Given the description of an element on the screen output the (x, y) to click on. 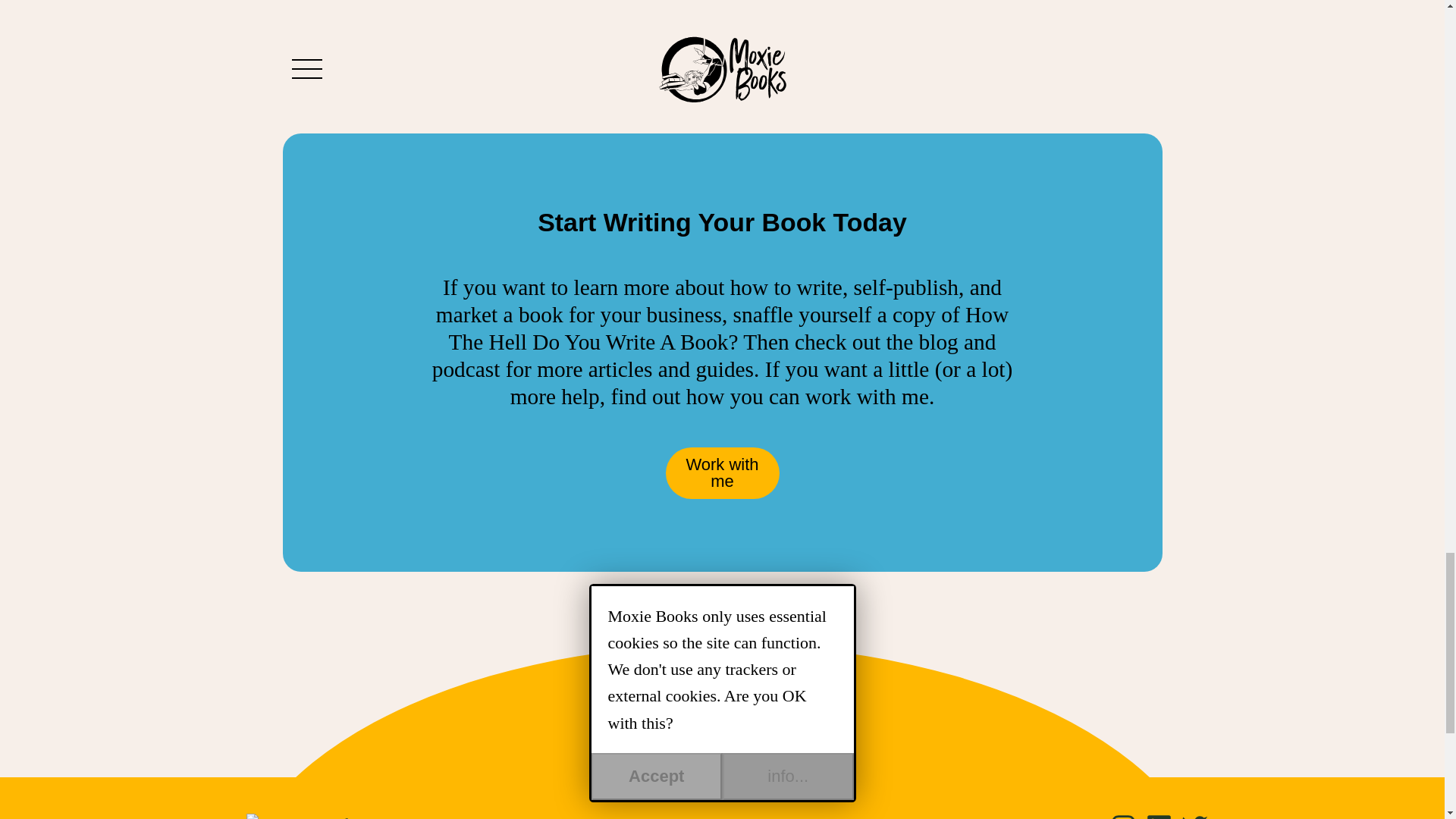
Read more (722, 38)
Work with me (721, 472)
Read more (419, 38)
Read more (1024, 38)
